Given the description of an element on the screen output the (x, y) to click on. 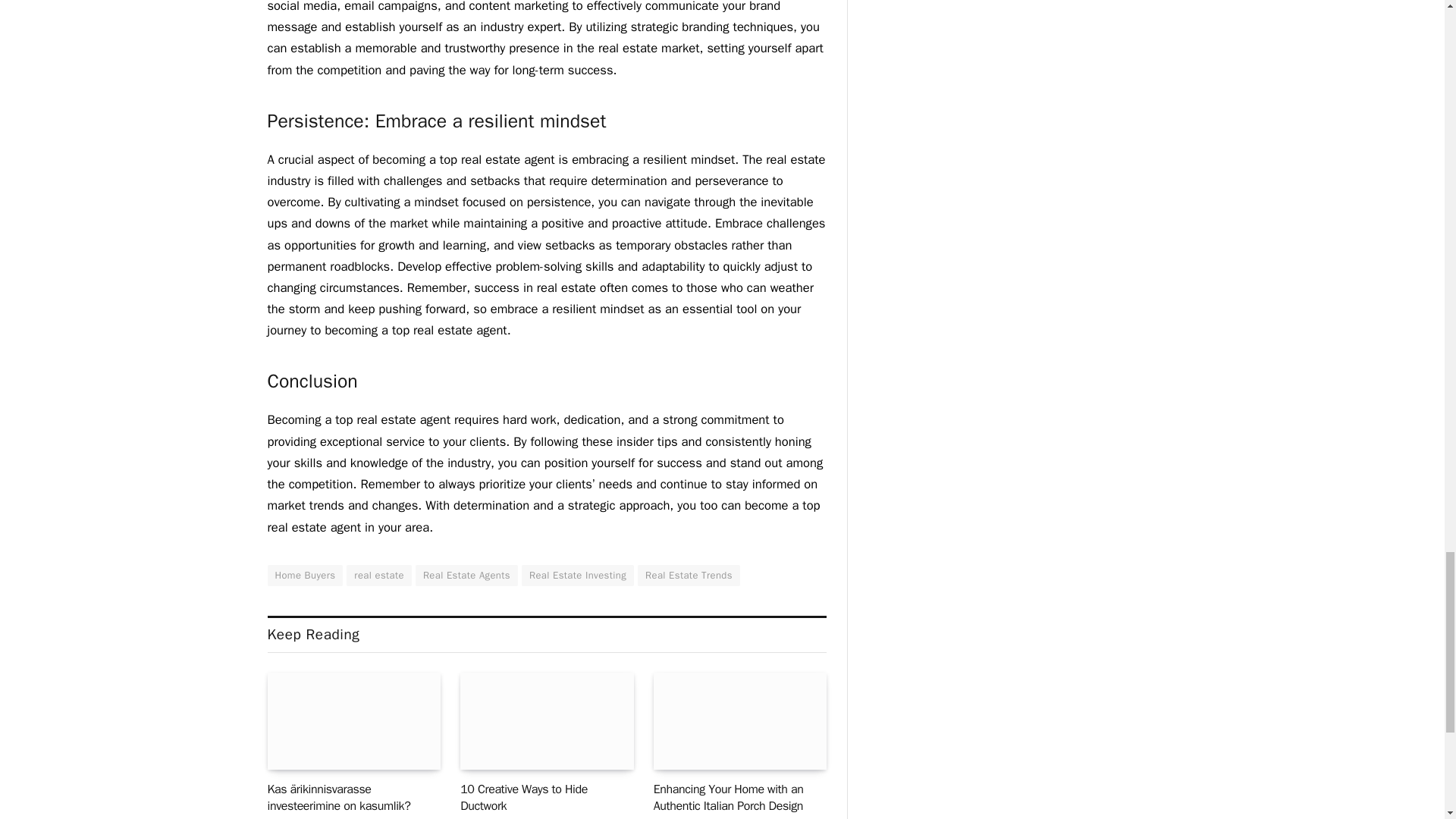
10 Creative Ways to Hide Ductwork (546, 721)
